Given the description of an element on the screen output the (x, y) to click on. 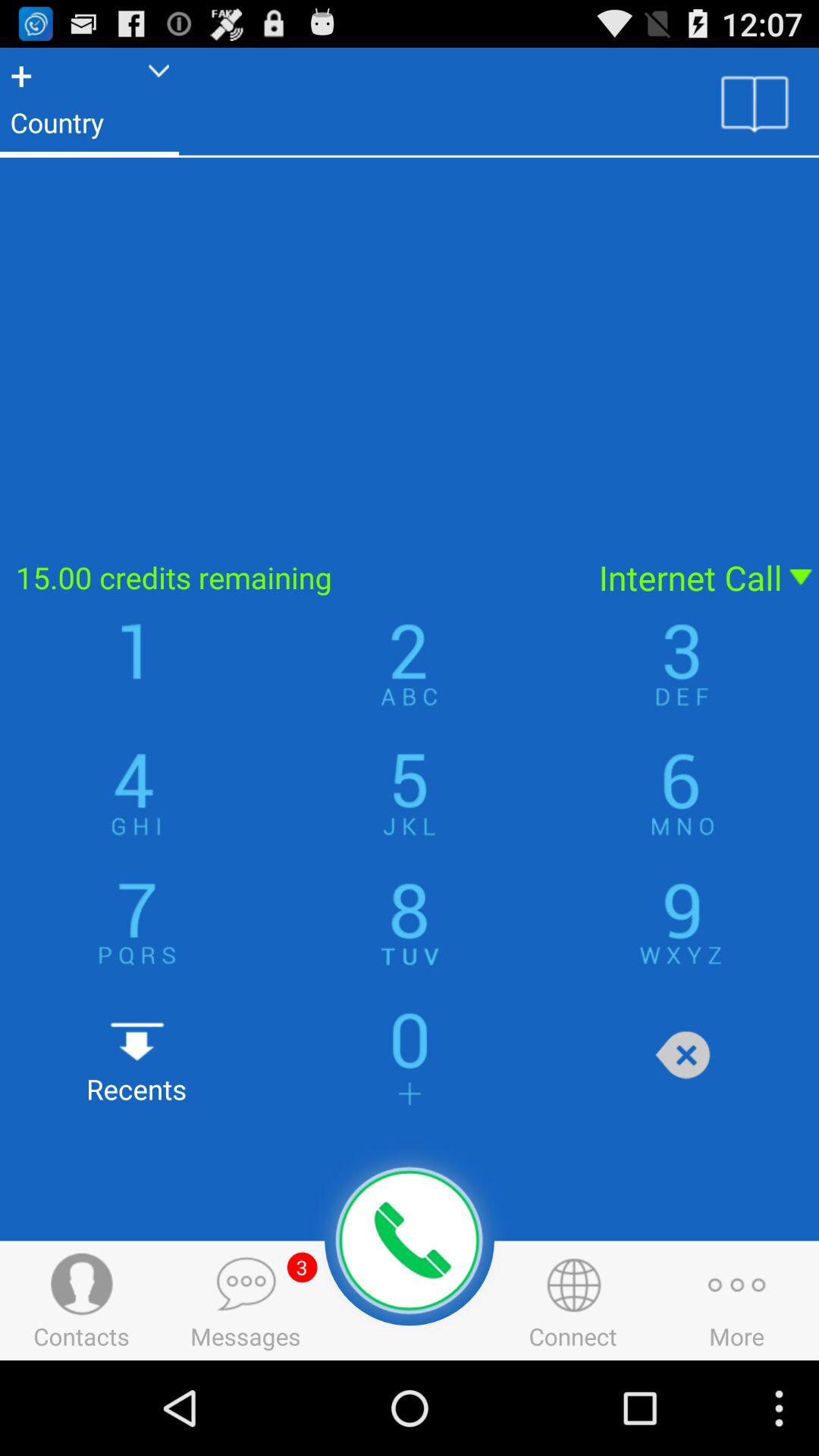
call number (409, 1240)
